Given the description of an element on the screen output the (x, y) to click on. 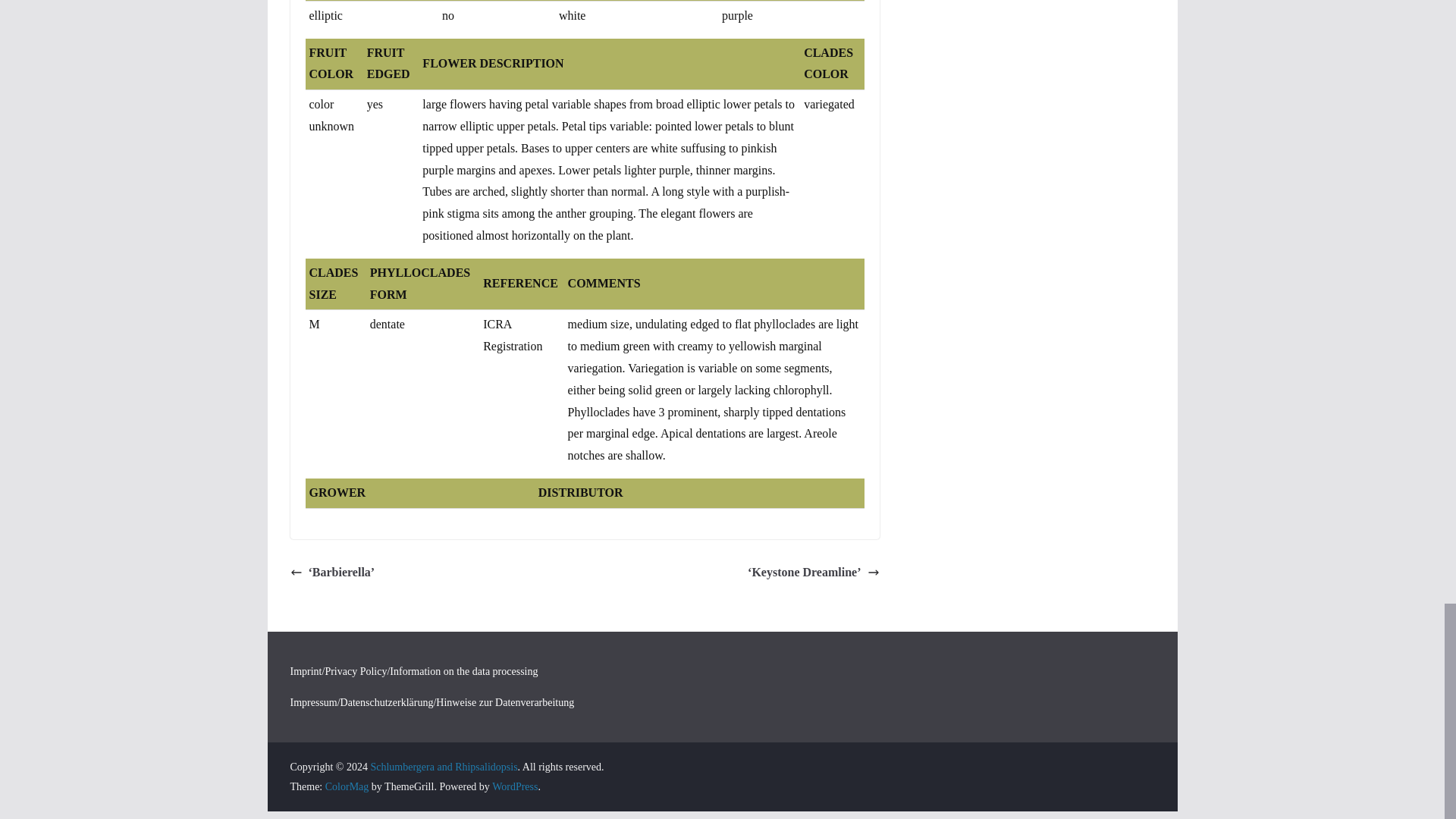
WordPress (514, 786)
Schlumbergera and Rhipsalidopsis (442, 767)
ColorMag (346, 786)
